Given the description of an element on the screen output the (x, y) to click on. 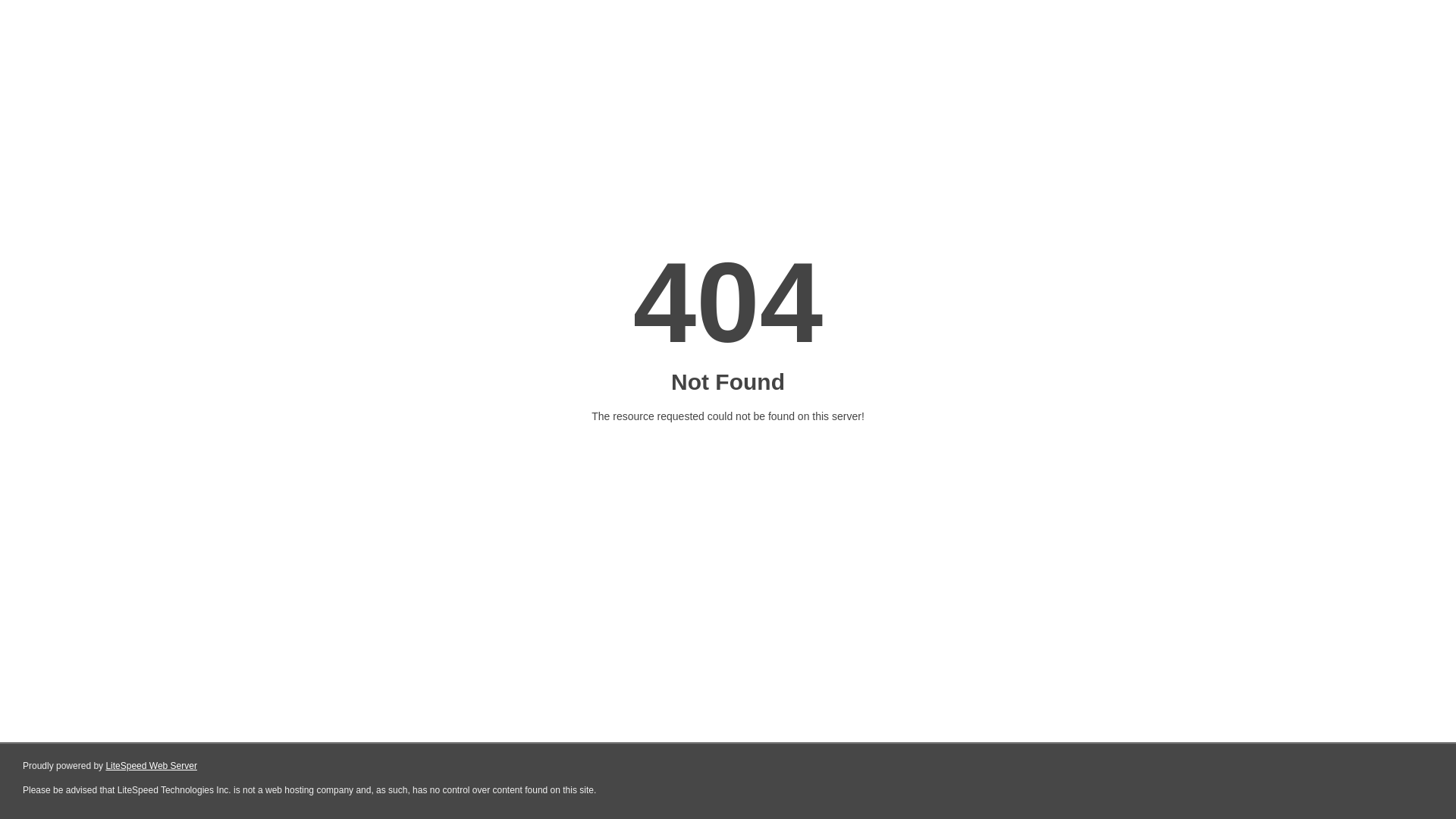
LiteSpeed Web Server Element type: text (151, 765)
